Given the description of an element on the screen output the (x, y) to click on. 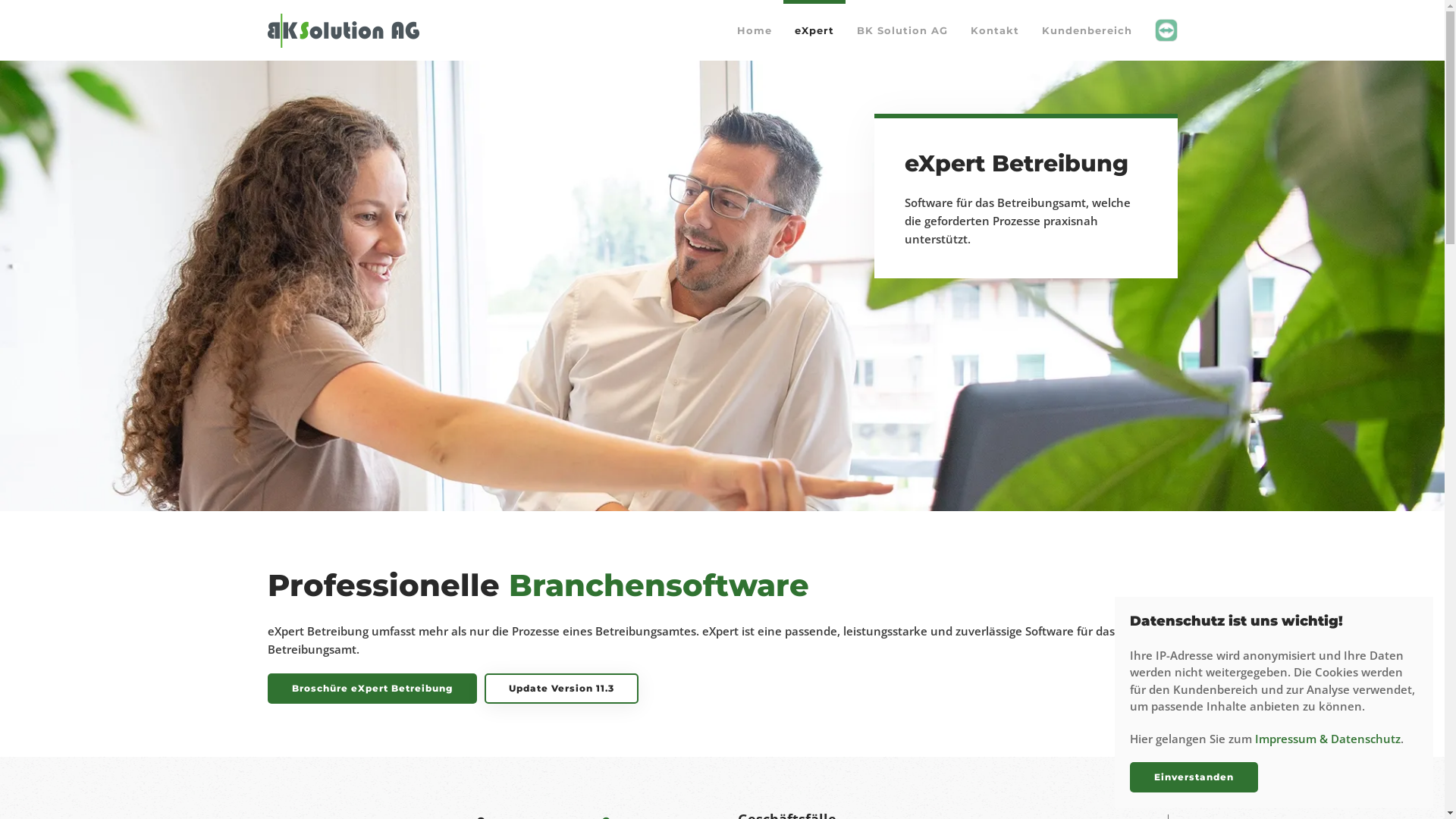
BK Solution AG Element type: text (901, 30)
Einverstanden Element type: text (1193, 777)
Home Element type: text (753, 30)
Kundenbereich Element type: text (1085, 30)
Impressum & Datenschutz Element type: text (1327, 738)
Update Version 11.3 Element type: text (560, 688)
Kontakt Element type: text (993, 30)
eXpert Element type: text (813, 30)
